Given the description of an element on the screen output the (x, y) to click on. 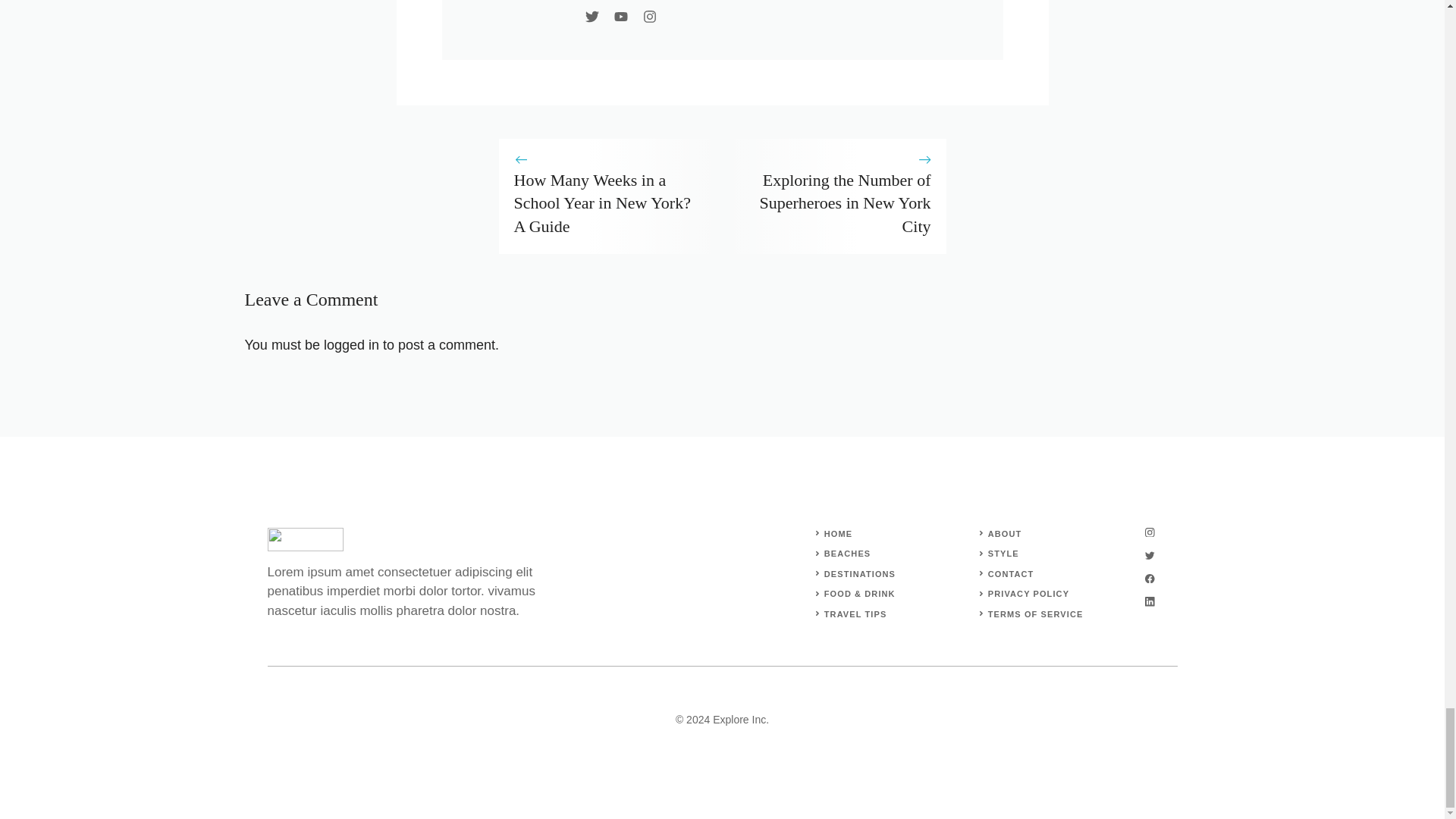
PRIVACY POLICY (1028, 593)
ABOUT (1005, 533)
explore-logo (304, 539)
logged in (350, 344)
HOME (837, 533)
STYLE (1003, 552)
BEACHES (847, 552)
How Many Weeks in a School Year in New York? A Guide (601, 203)
Exploring the Number of Superheroes in New York City (844, 203)
CONTACT (1010, 573)
